Given the description of an element on the screen output the (x, y) to click on. 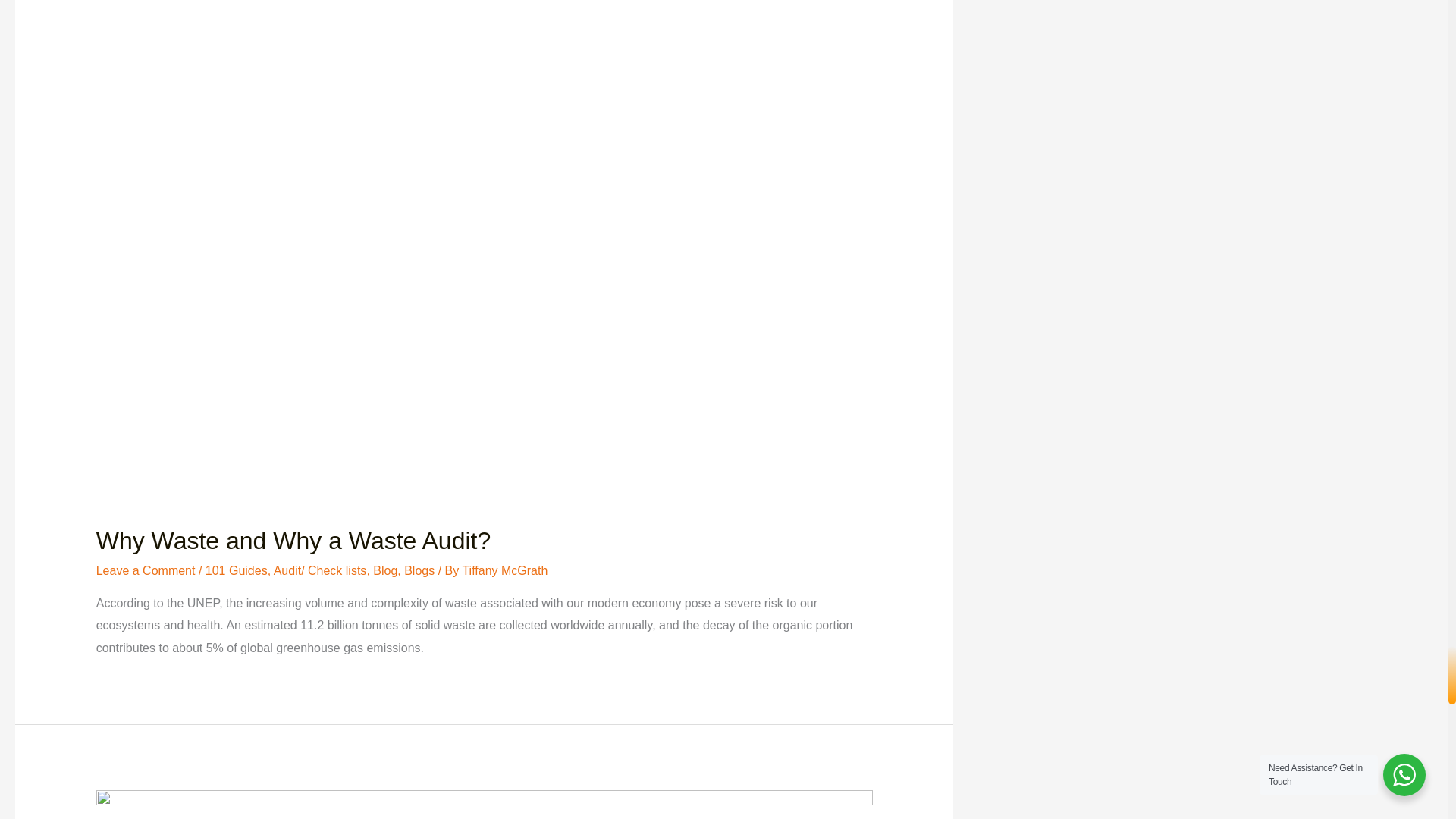
View all posts by Tiffany McGrath (504, 570)
